Given the description of an element on the screen output the (x, y) to click on. 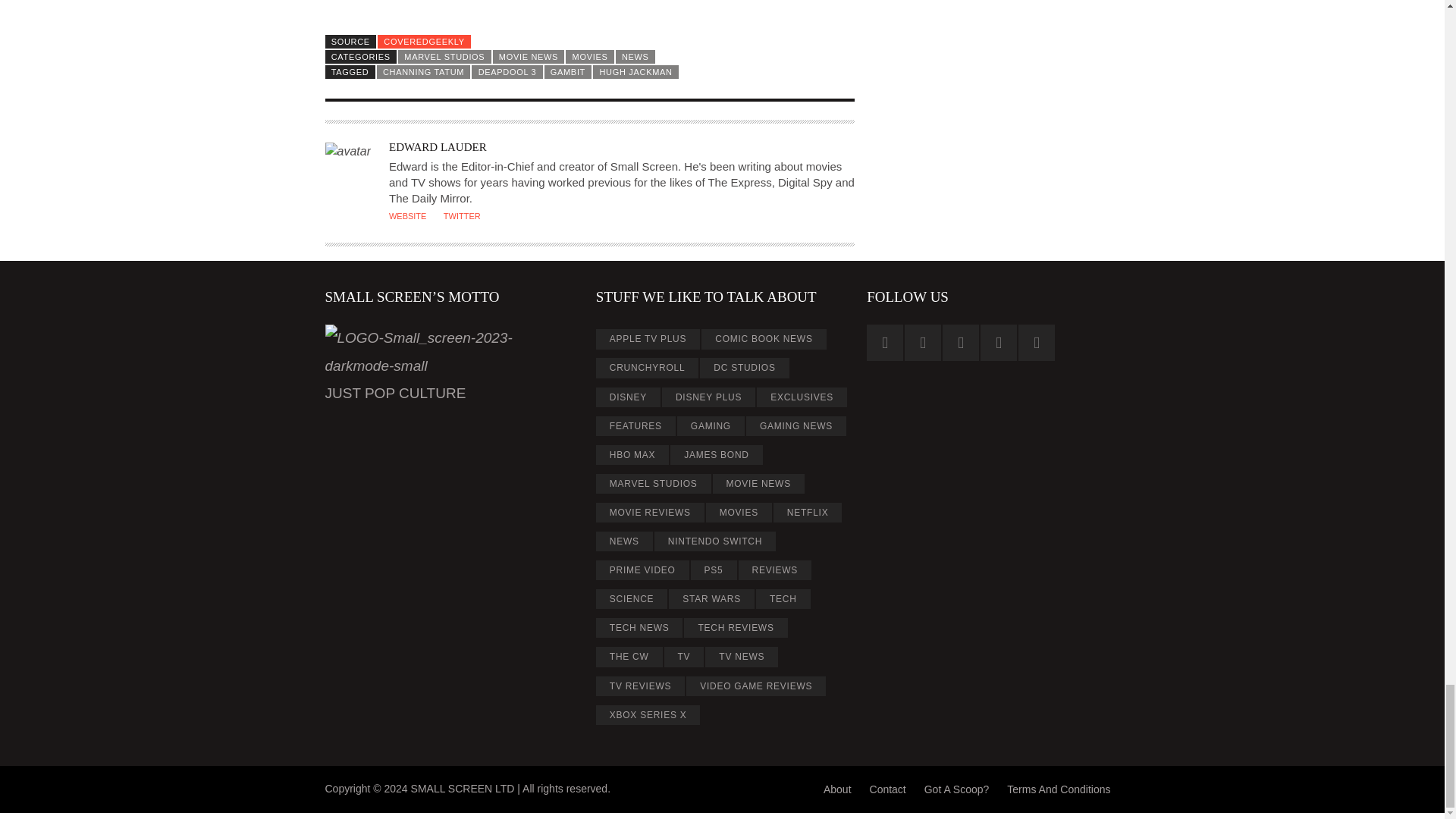
Posts by Edward Lauder (437, 146)
View all posts in MOVIES (589, 56)
View all posts tagged Channing Tatum (423, 71)
View all posts tagged hugh jackman (635, 71)
View all posts in MOVIE NEWS (528, 56)
View all posts tagged Deapdool 3 (506, 71)
View all posts in MARVEL STUDIOS (444, 56)
View all posts in NEWS (635, 56)
View all posts tagged Gambit (568, 71)
